Given the description of an element on the screen output the (x, y) to click on. 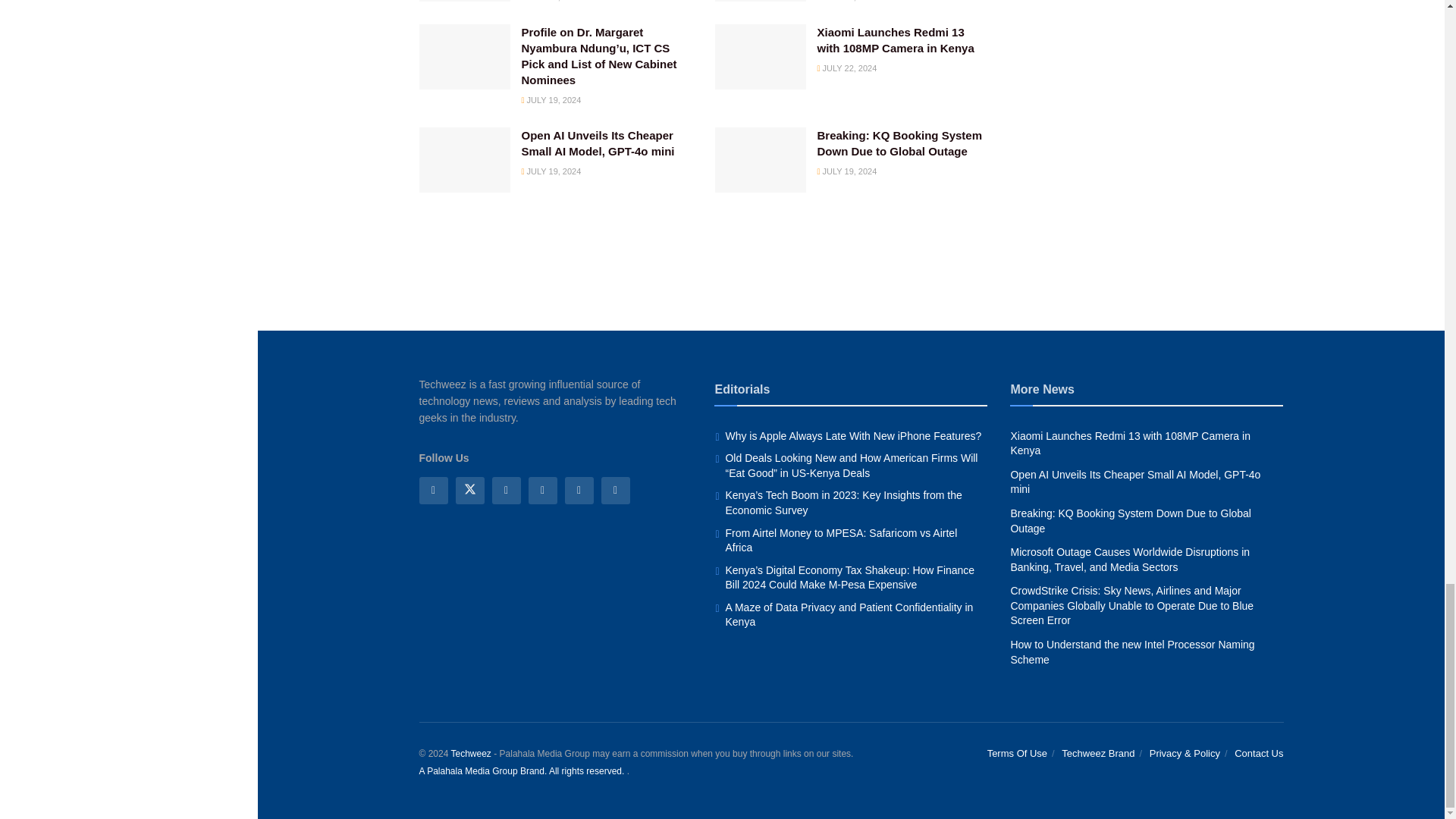
Techweez, a Palahala Media Group Brand. All rights reserved (469, 753)
